Given the description of an element on the screen output the (x, y) to click on. 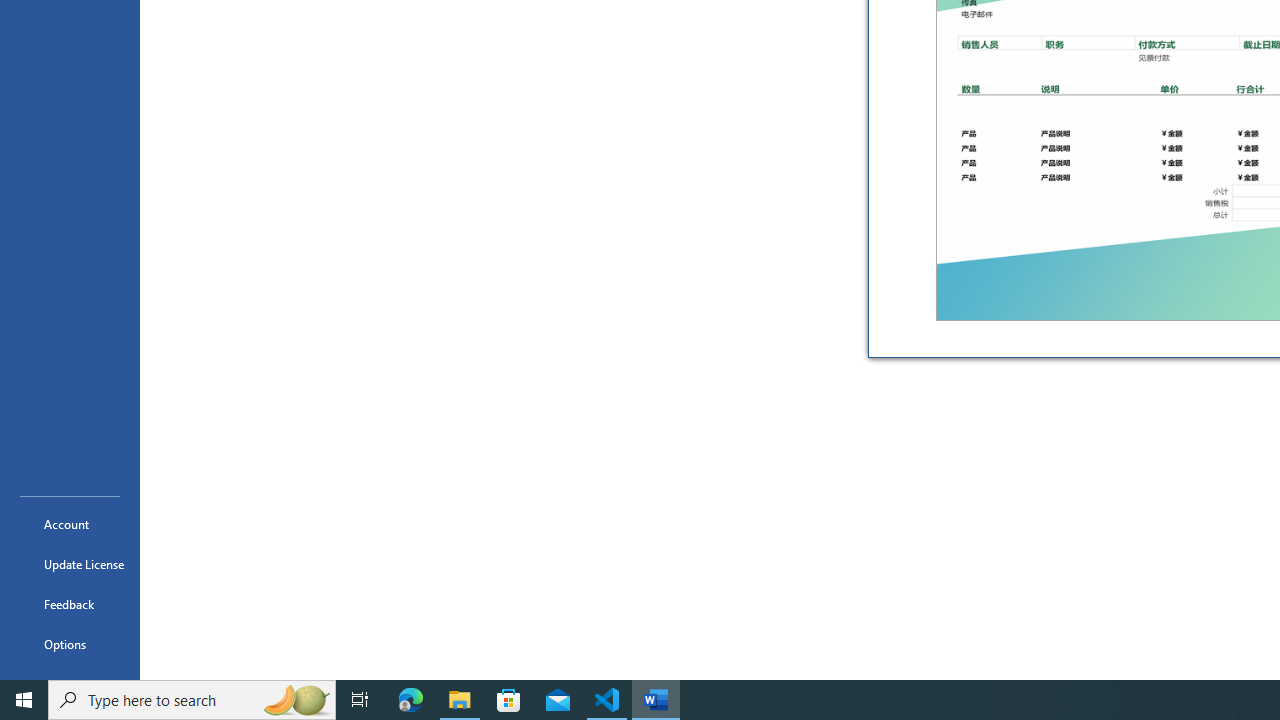
Start (24, 699)
File Explorer - 1 running window (460, 699)
Account (69, 523)
Task View (359, 699)
Options (69, 643)
Search highlights icon opens search home window (295, 699)
Type here to search (191, 699)
Word - 1 running window (656, 699)
Microsoft Edge (411, 699)
Visual Studio Code - 1 running window (607, 699)
Feedback (69, 603)
Microsoft Store (509, 699)
Update License (69, 563)
